Given the description of an element on the screen output the (x, y) to click on. 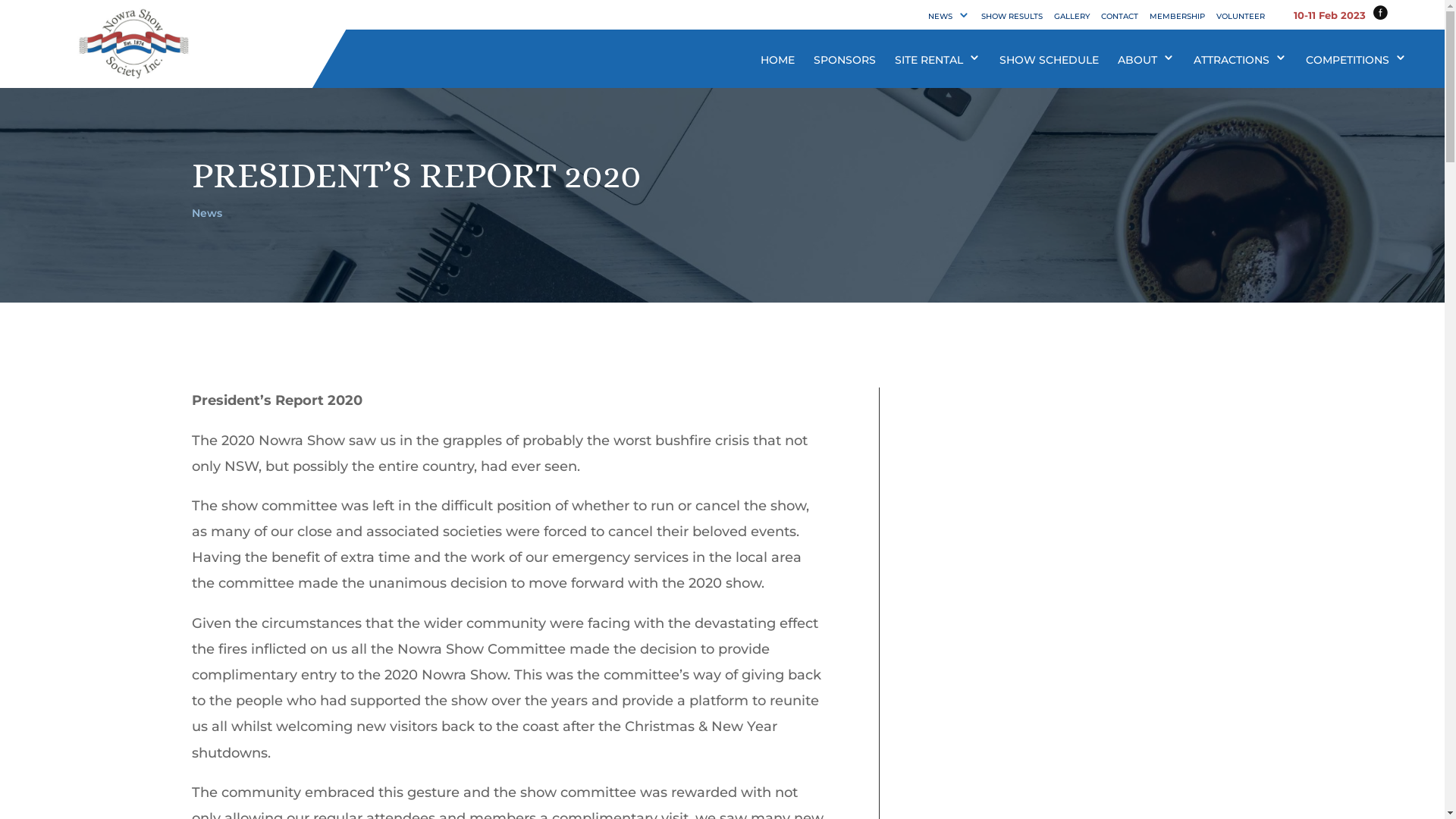
CONTACT Element type: text (1119, 16)
SHOW RESULTS Element type: text (1011, 16)
SITE RENTAL Element type: text (928, 59)
ATTRACTIONS Element type: text (1231, 59)
COMPETITIONS Element type: text (1347, 59)
NEWS Element type: text (940, 16)
GALLERY Element type: text (1071, 16)
Facebook Element type: hover (1379, 13)
ABOUT Element type: text (1137, 59)
HOME Element type: text (777, 59)
SHOW SCHEDULE Element type: text (1048, 59)
VOLUNTEER Element type: text (1240, 16)
SPONSORS Element type: text (844, 59)
MEMBERSHIP Element type: text (1176, 16)
News Element type: text (206, 212)
